Given the description of an element on the screen output the (x, y) to click on. 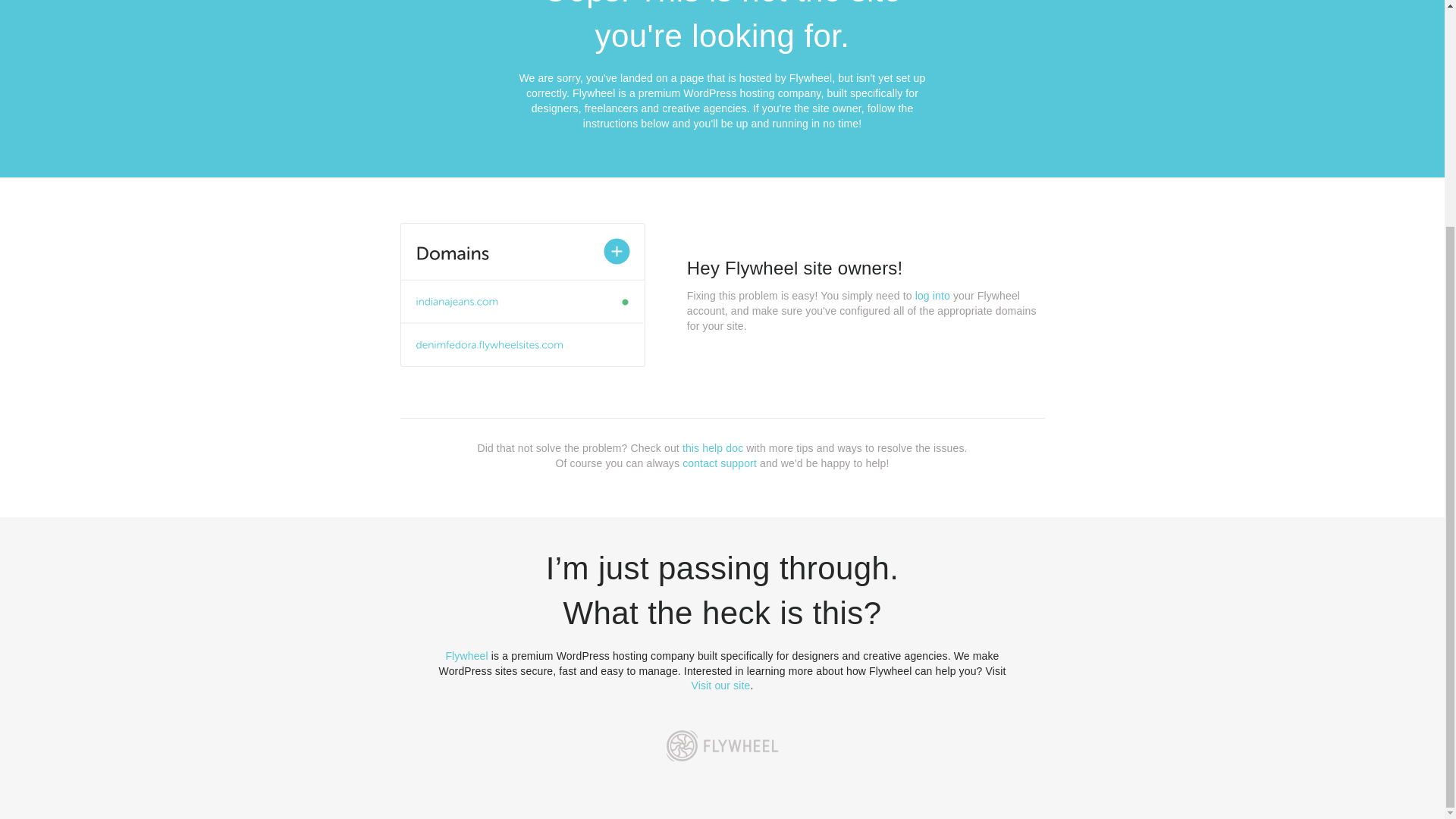
contact support (719, 463)
this help doc (712, 448)
Visit our site (721, 685)
log into (932, 295)
Flywheel (466, 655)
